Given the description of an element on the screen output the (x, y) to click on. 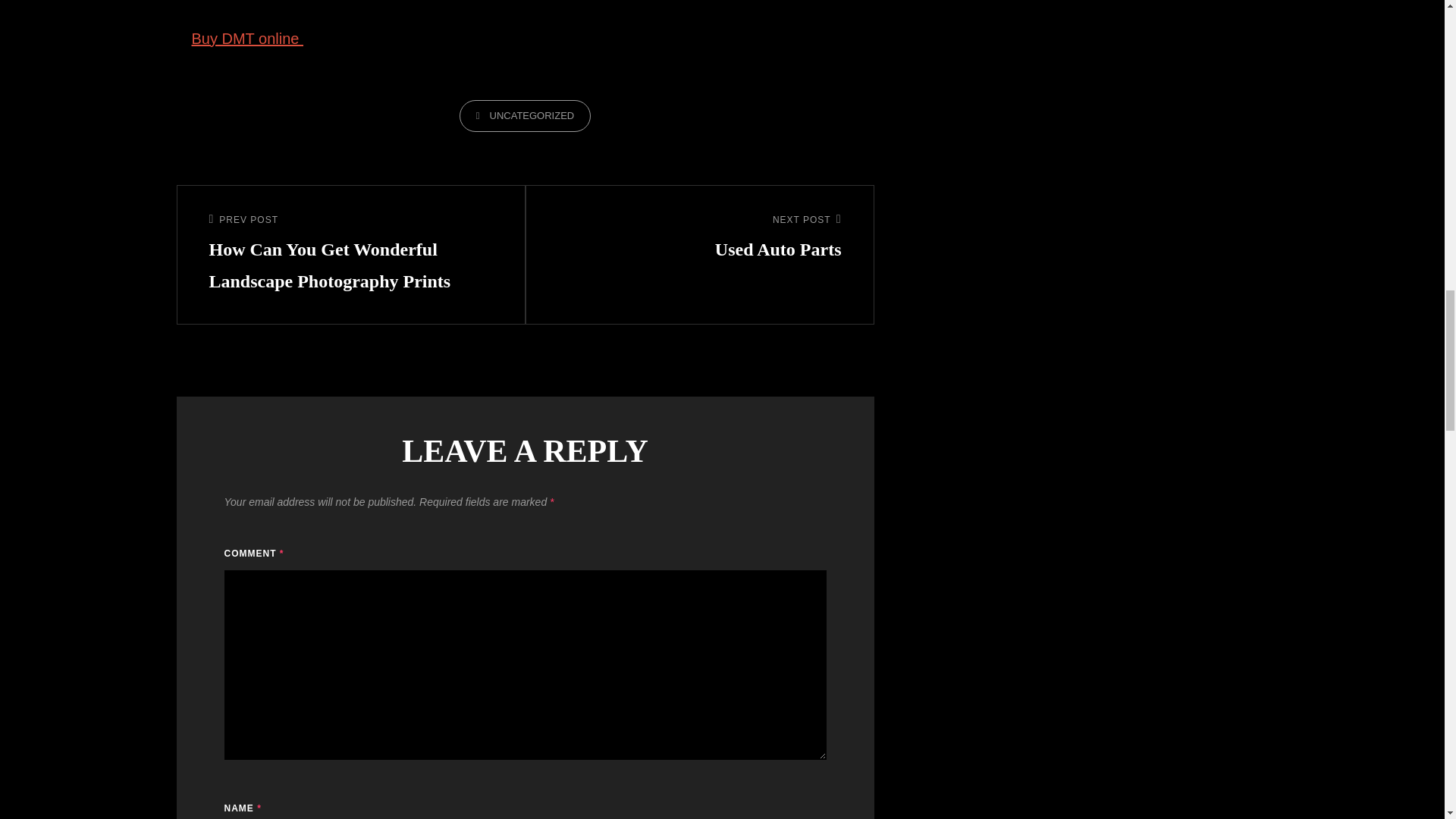
UNCATEGORIZED (699, 238)
Buy DMT online  (525, 115)
